Given the description of an element on the screen output the (x, y) to click on. 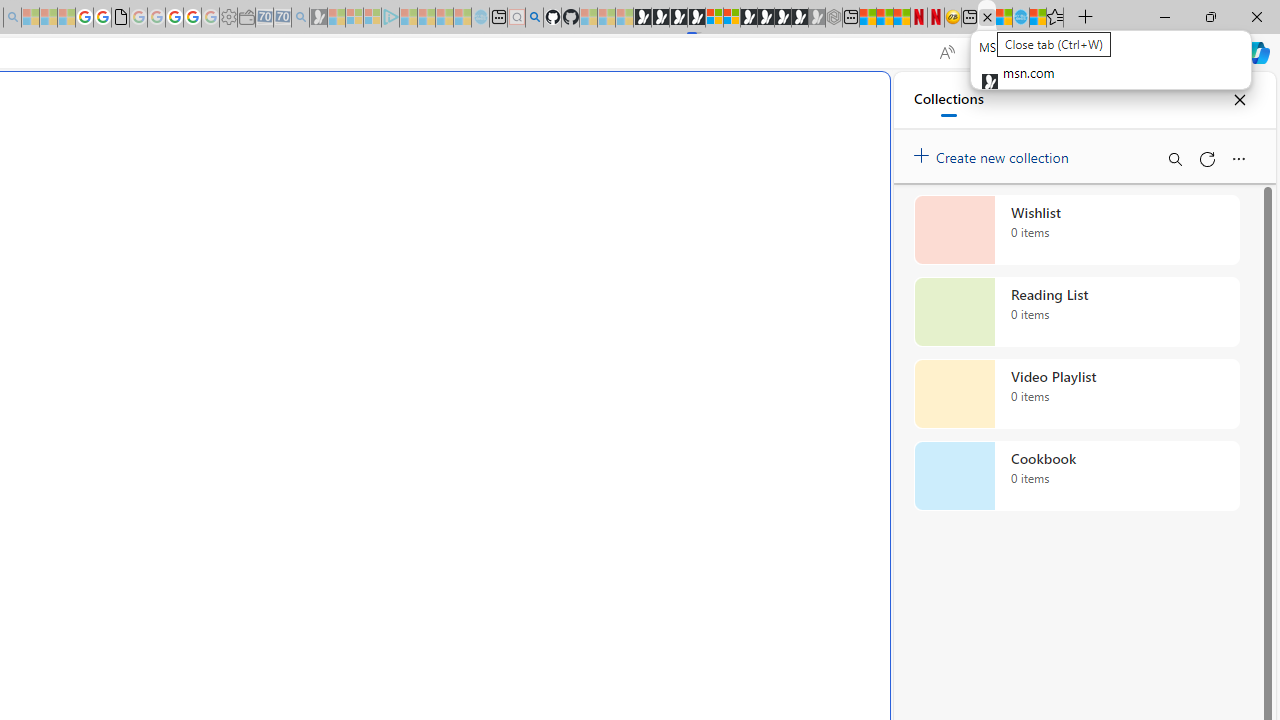
Overview (731, 17)
github - Search (534, 17)
